Given the description of an element on the screen output the (x, y) to click on. 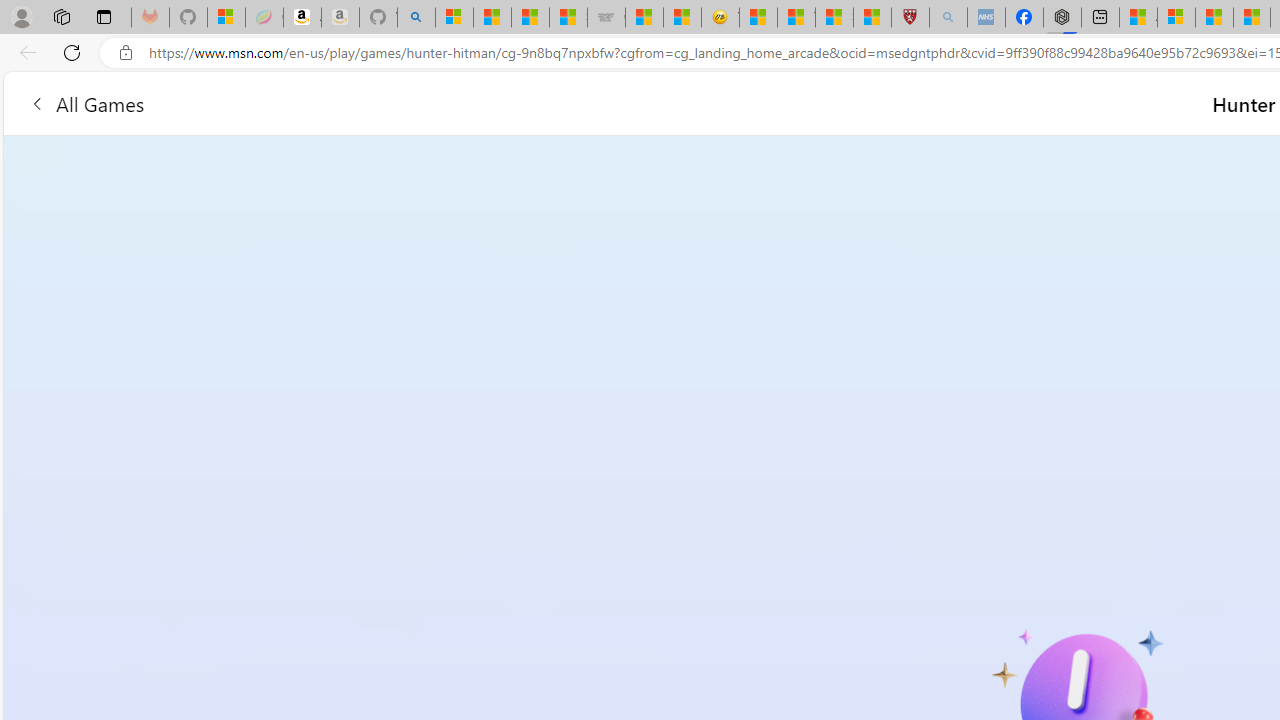
12 Popular Science Lies that Must be Corrected (871, 17)
Microsoft account | Privacy (1176, 17)
Personal Profile (21, 16)
list of asthma inhalers uk - Search - Sleeping (948, 17)
Science - MSN (833, 17)
All Games (445, 102)
Recipes - MSN (757, 17)
Microsoft-Report a Concern to Bing (225, 17)
